Given the description of an element on the screen output the (x, y) to click on. 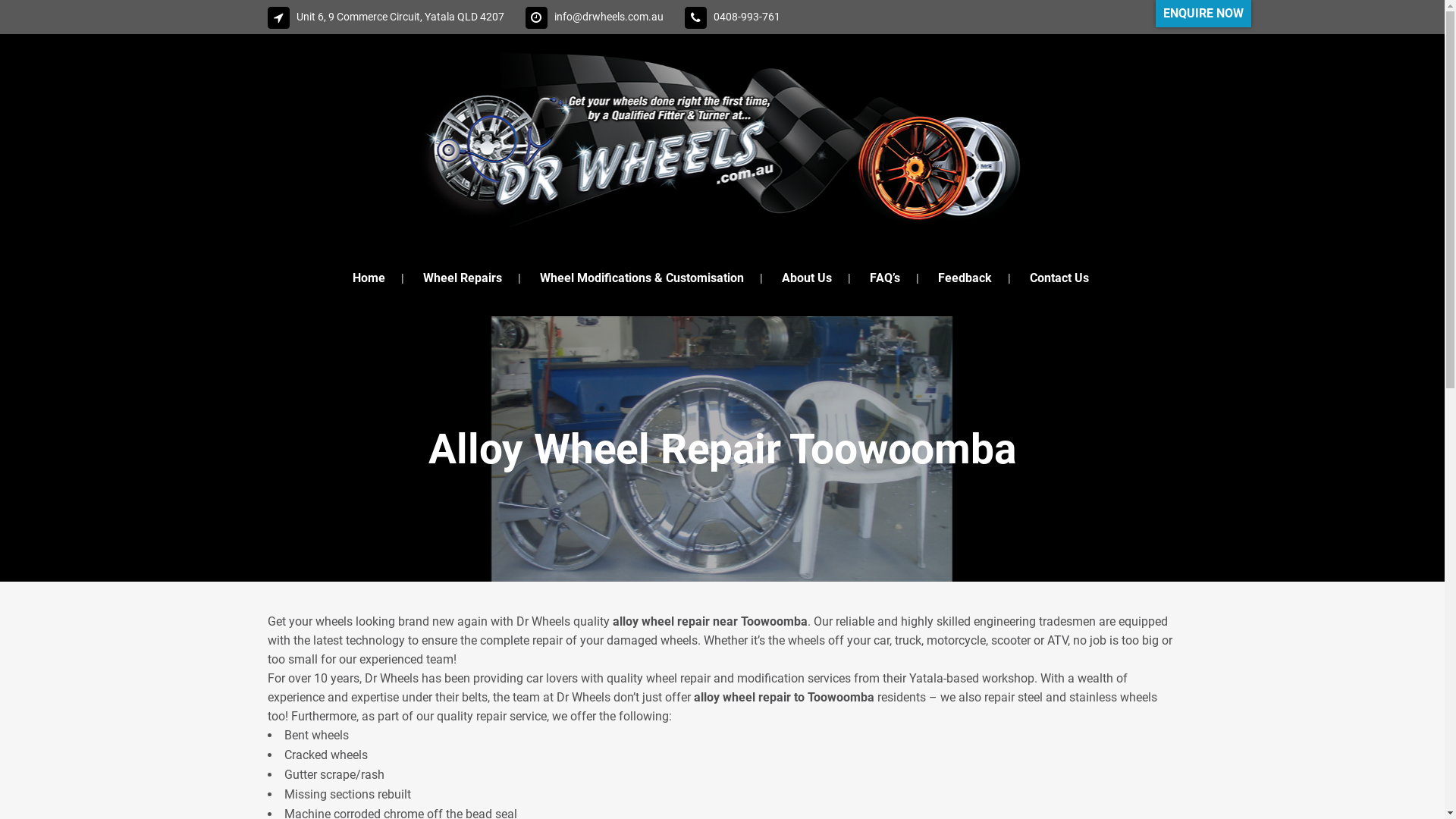
Home Element type: text (368, 278)
Wheel Modifications & Customisation Element type: text (641, 278)
About Us Element type: text (806, 278)
Wheel Repairs Element type: text (462, 278)
Feedback Element type: text (964, 278)
Contact Us Element type: text (1059, 278)
